Given the description of an element on the screen output the (x, y) to click on. 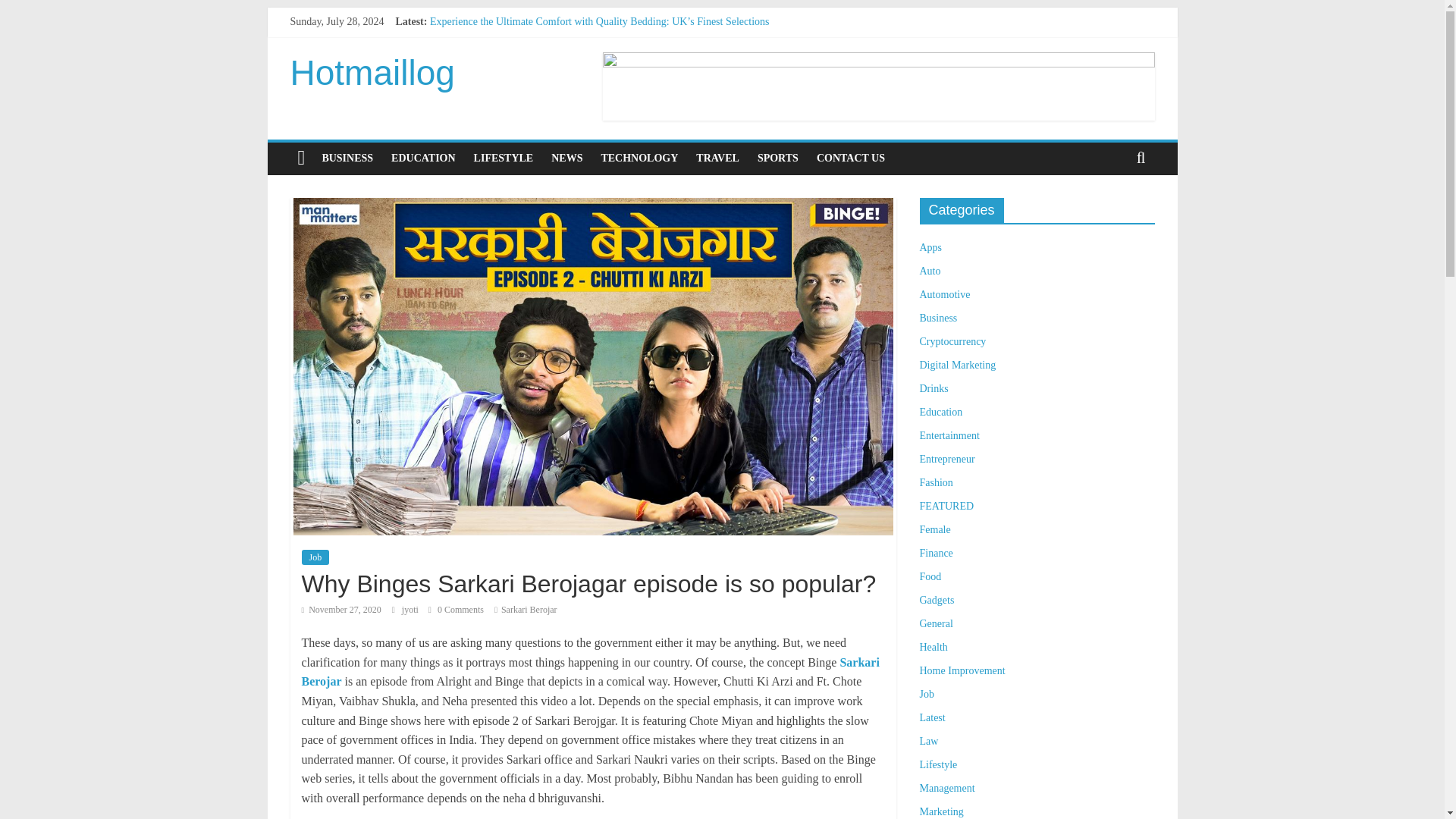
LIFESTYLE (503, 158)
CONTACT US (850, 158)
SPORTS (778, 158)
Hotmaillog (371, 72)
12:17 pm (341, 609)
TECHNOLOGY (639, 158)
Sarkari Berojar (590, 672)
jyoti (410, 609)
Job (315, 557)
TRAVEL (717, 158)
NEWS (566, 158)
